Given the description of an element on the screen output the (x, y) to click on. 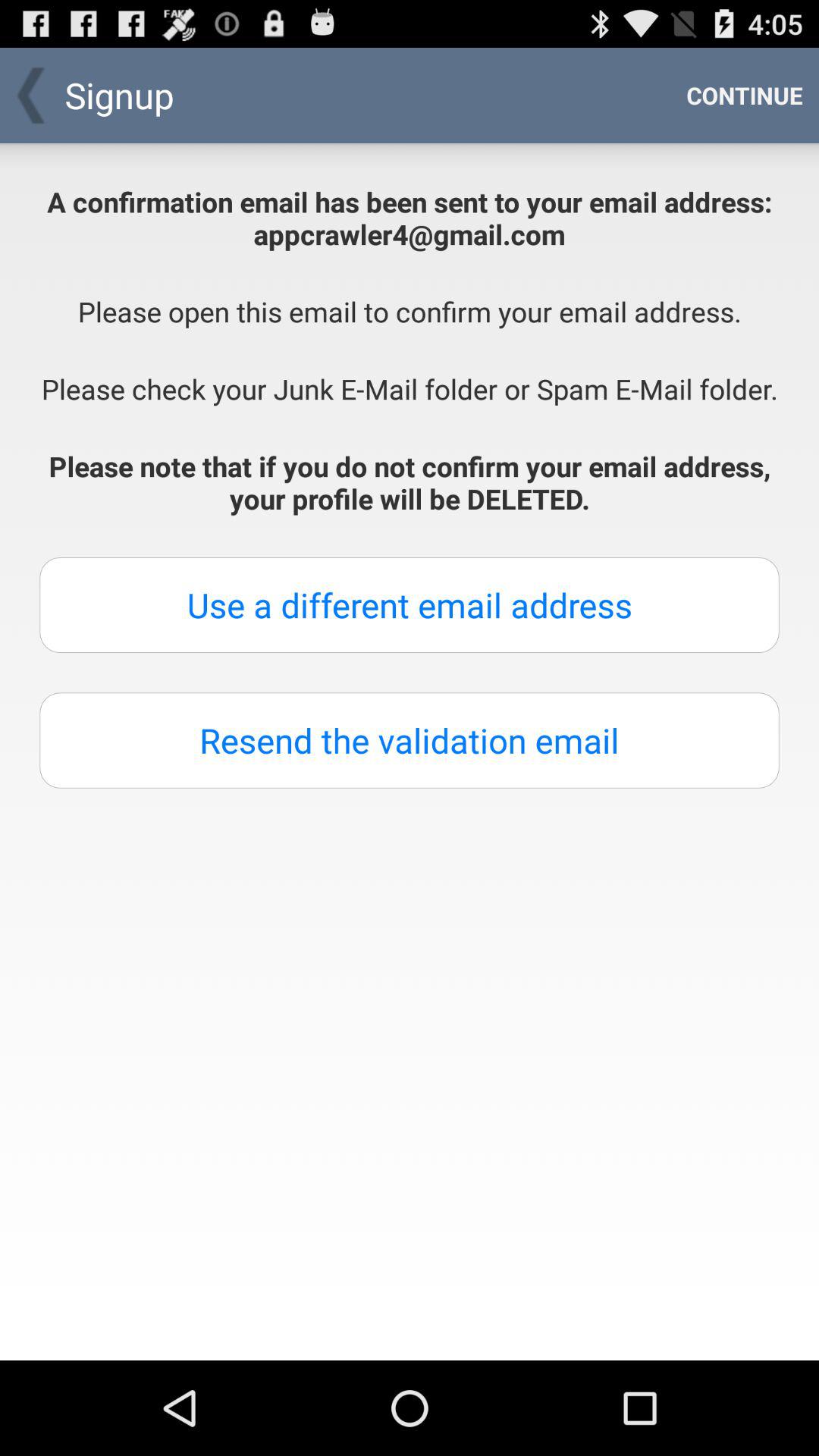
choose the resend the validation button (409, 740)
